Given the description of an element on the screen output the (x, y) to click on. 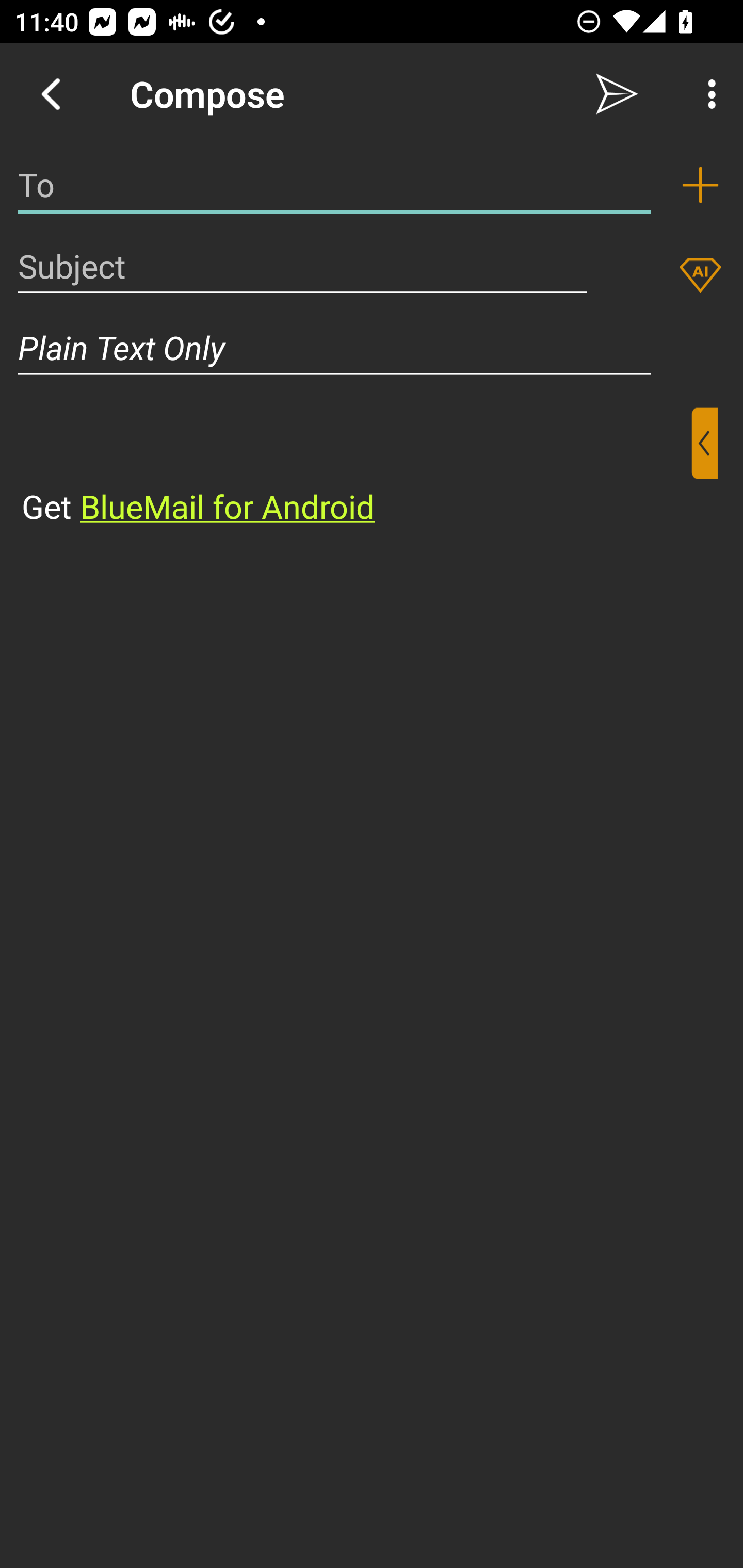
Navigate up (50, 93)
Send (616, 93)
More Options (706, 93)
To (334, 184)
Add recipient (To) (699, 184)
Subject (302, 266)
Plain Text Only (371, 347)


⁣Get BlueMail for Android ​ (355, 468)
